Given the description of an element on the screen output the (x, y) to click on. 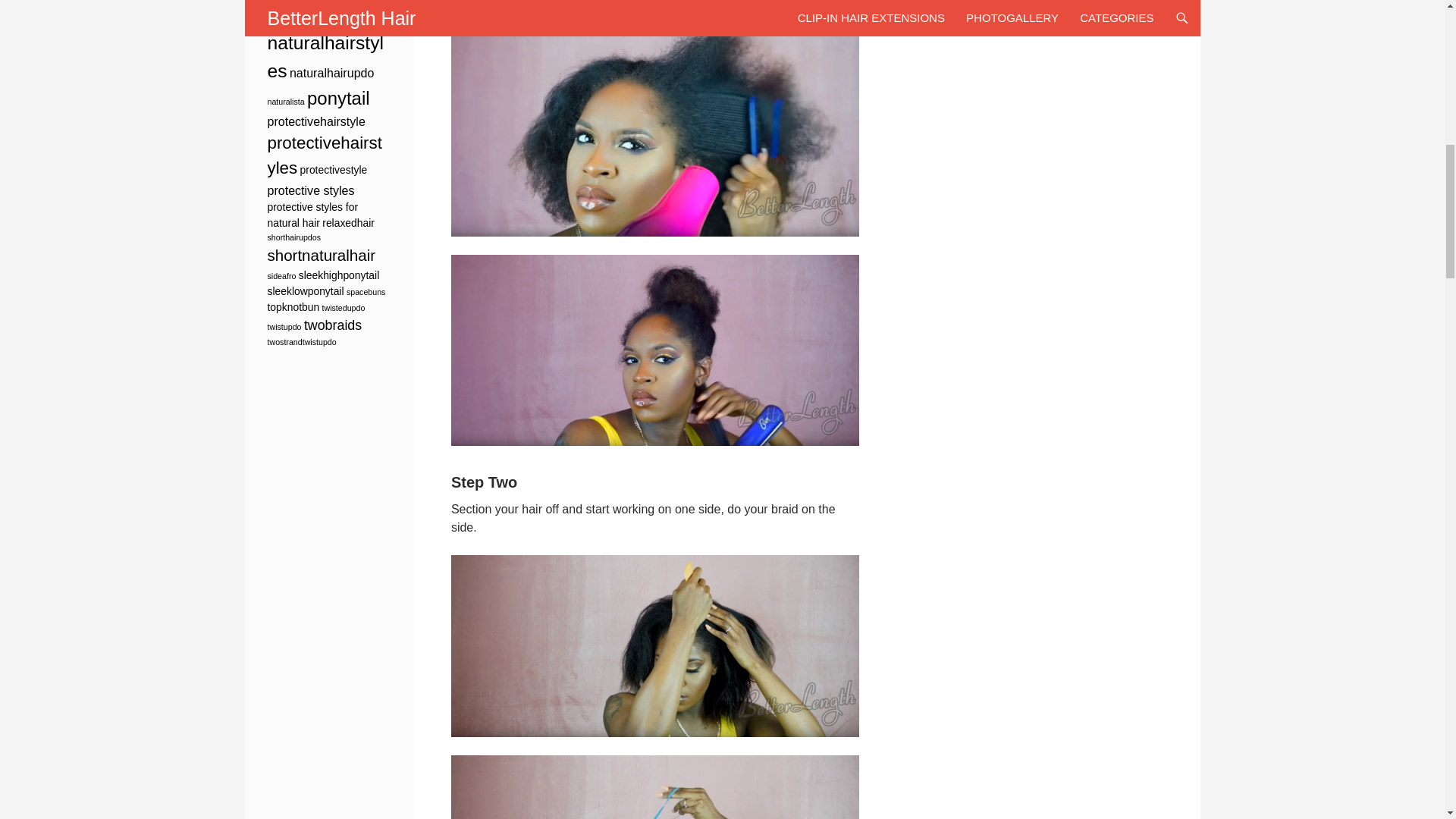
How to Turn 2 Simple Braids Into A Stunning Hairstyle (655, 349)
How to Turn 2 Simple Braids Into A Stunning Hairstyle (655, 787)
How to Turn 2 Simple Braids Into A Stunning Hairstyle (655, 646)
How to Turn 2 Simple Braids Into A Stunning Hairstyle (655, 127)
